Given the description of an element on the screen output the (x, y) to click on. 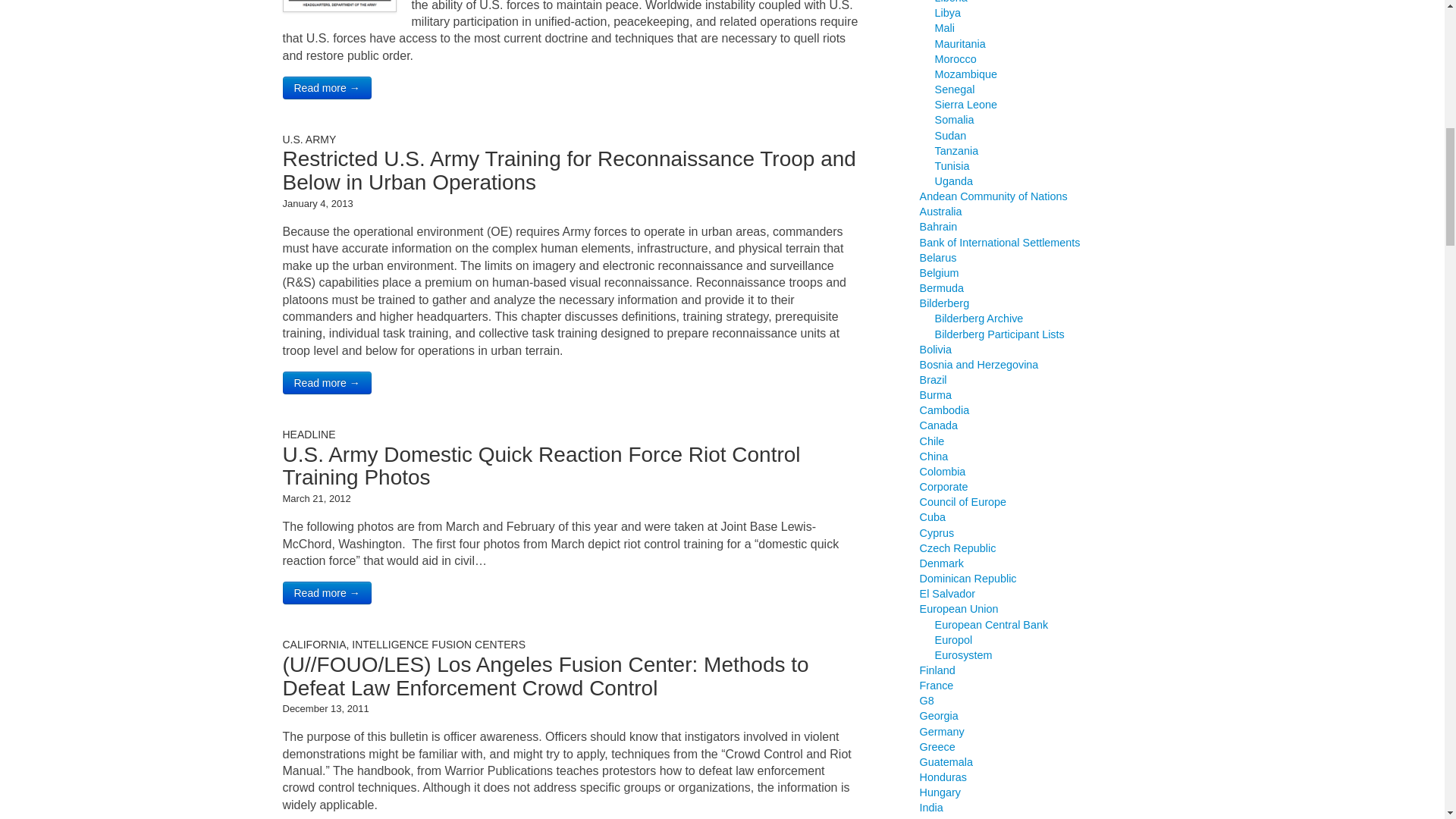
HEADLINE (308, 434)
INTELLIGENCE FUSION CENTERS (438, 644)
U.S. ARMY (309, 139)
CALIFORNIA (314, 644)
March 21, 2012 (316, 498)
December 13, 2011 (325, 708)
January 4, 2013 (317, 203)
